Given the description of an element on the screen output the (x, y) to click on. 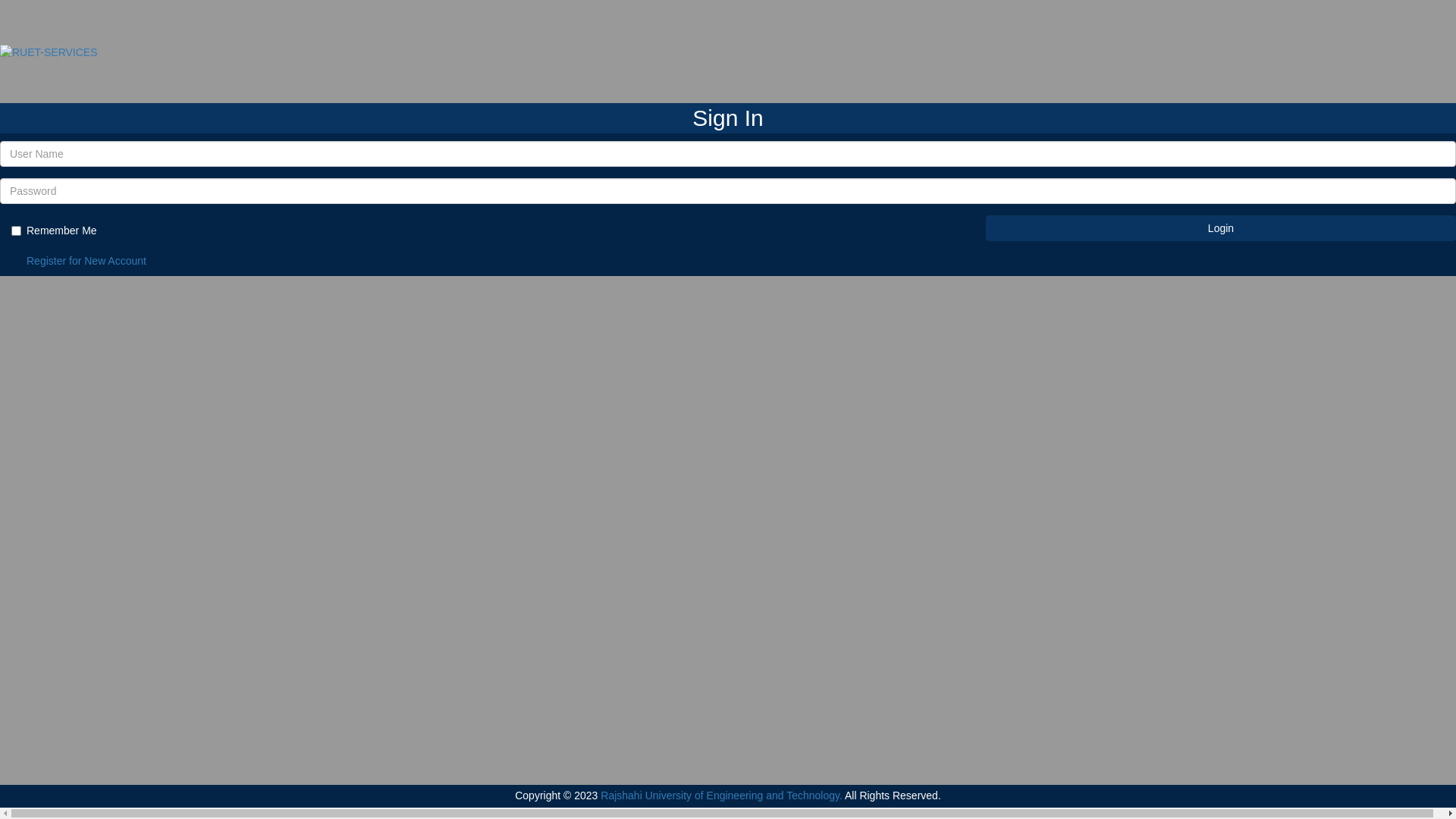
Rajshahi University of Engineering and Technology. Element type: text (721, 795)
Register for New Account Element type: text (86, 260)
RUET-SERVICES Element type: hover (48, 51)
